Given the description of an element on the screen output the (x, y) to click on. 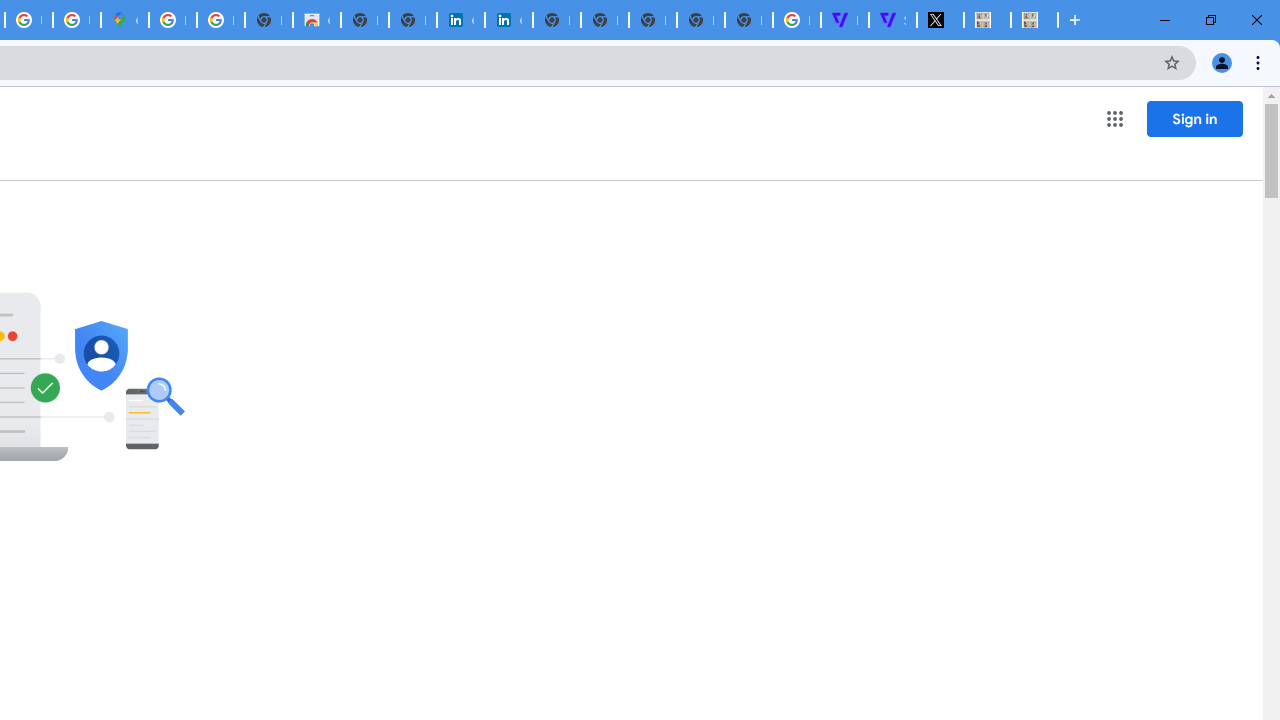
Miley Cyrus (@MileyCyrus) / X (939, 20)
Cookie Policy | LinkedIn (508, 20)
Streaming - The Verge (892, 20)
